Given the description of an element on the screen output the (x, y) to click on. 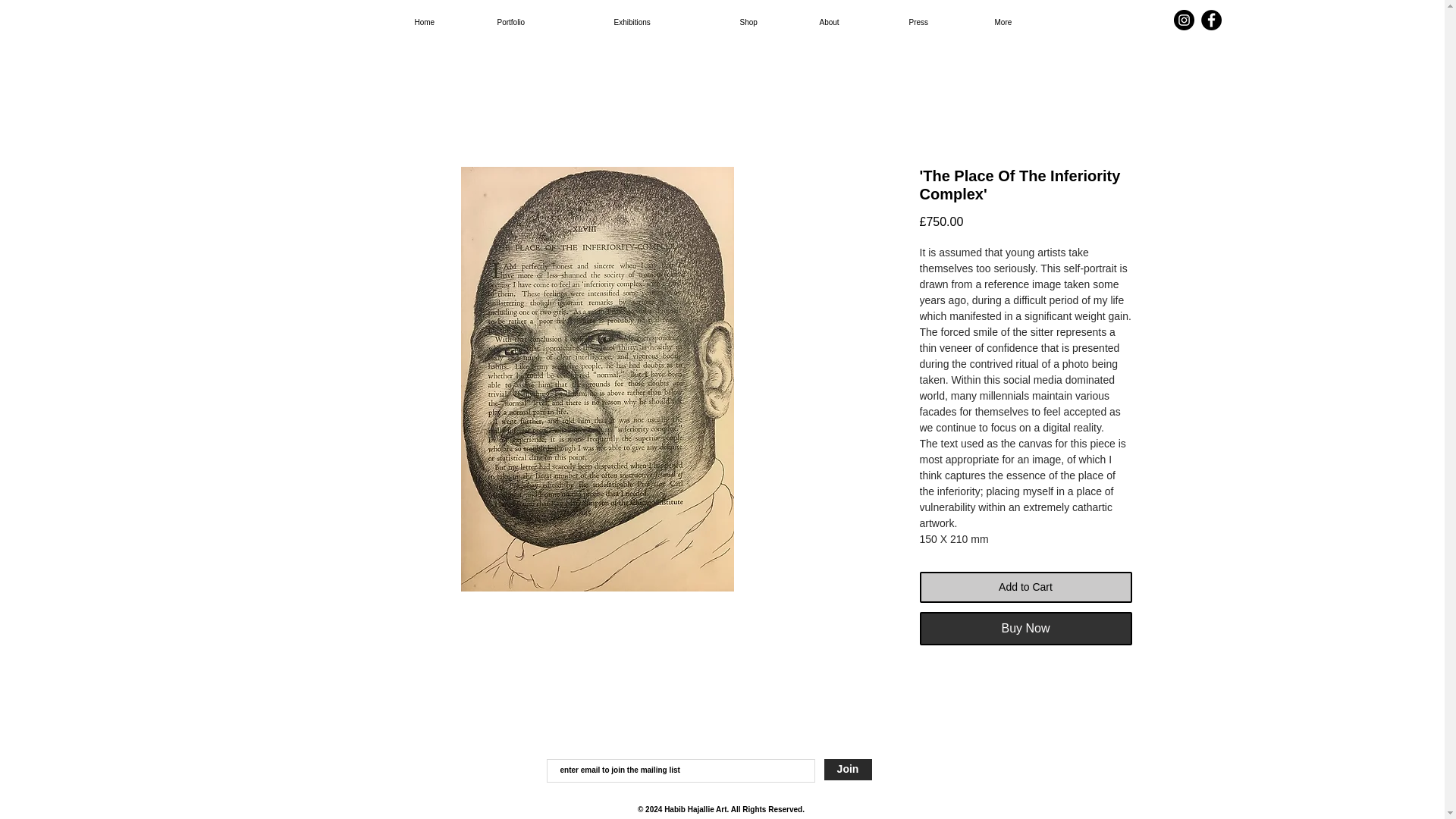
Portfolio (535, 22)
Add to Cart (1024, 586)
Join (847, 769)
About (844, 22)
Buy Now (1024, 628)
habib hajallie (726, 73)
Shop (759, 22)
Press (932, 22)
Home (437, 22)
Exhibitions (657, 22)
